Given the description of an element on the screen output the (x, y) to click on. 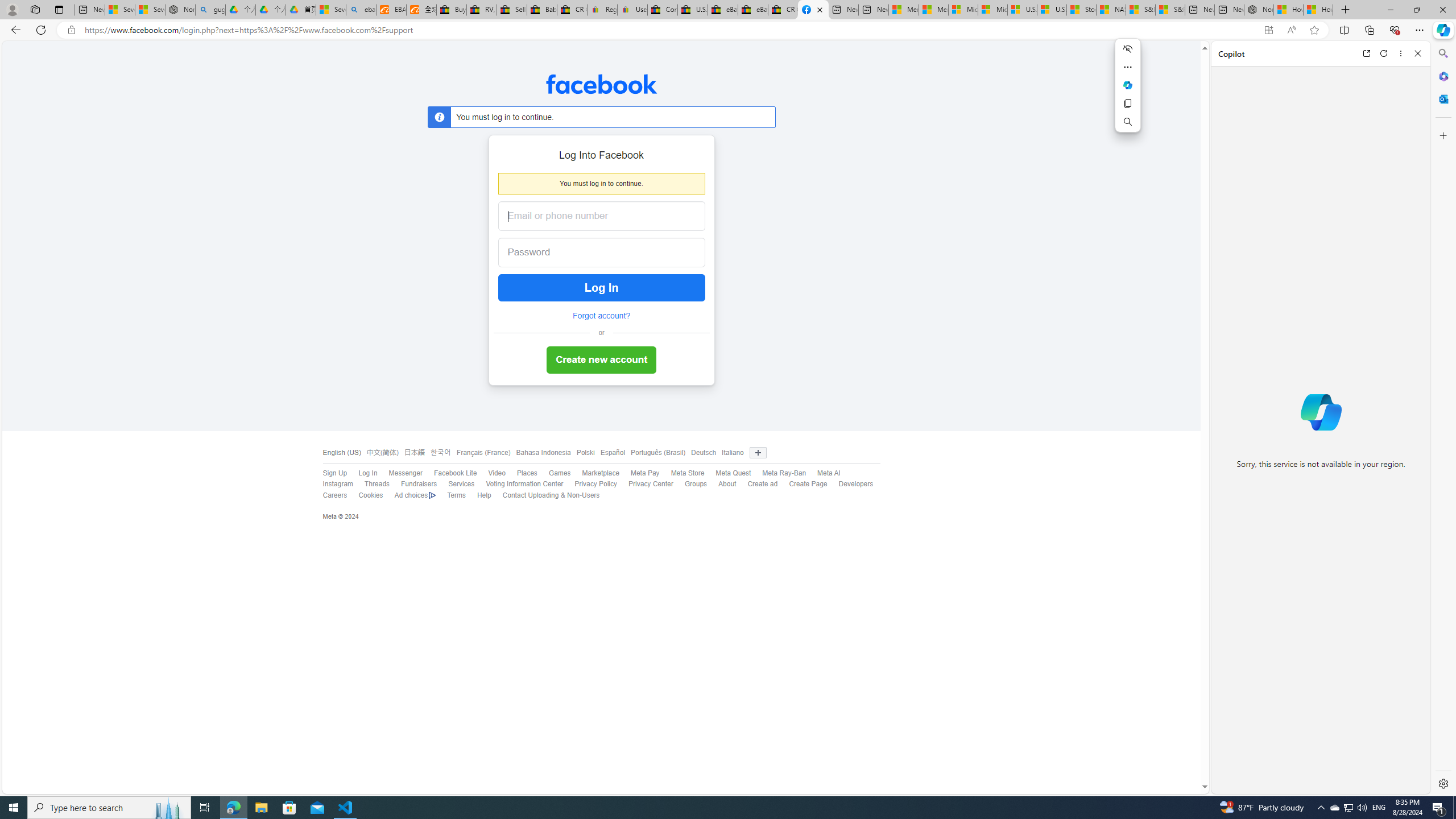
Help (484, 494)
Email or phone number (600, 216)
About (726, 483)
Mini menu on text selection (1127, 84)
Sign Up (334, 473)
Threads (377, 483)
